Given the description of an element on the screen output the (x, y) to click on. 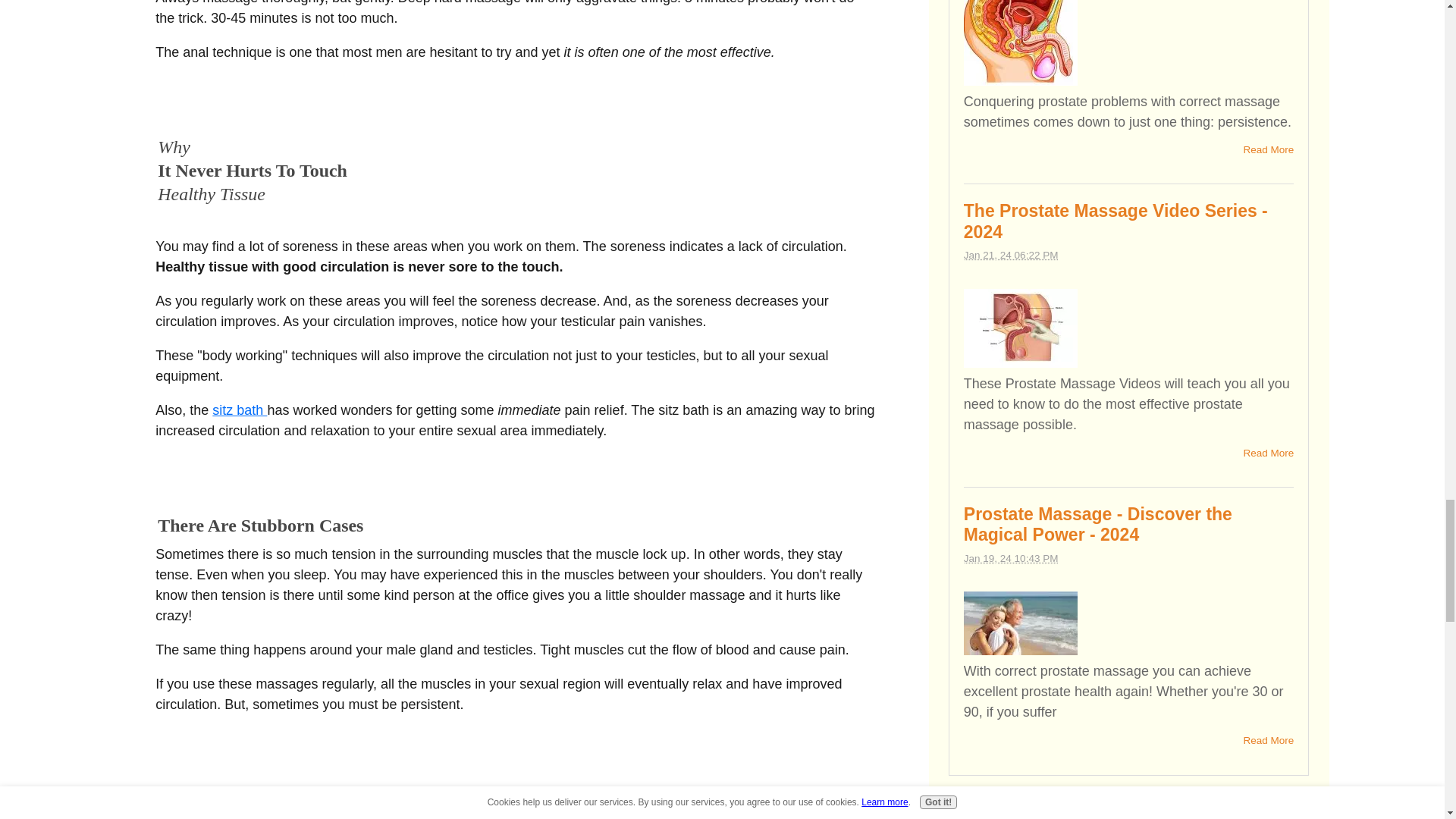
2024-01-21T18:22:46-0500 (1010, 255)
2024-01-19T22:43:34-0500 (1010, 558)
